Given the description of an element on the screen output the (x, y) to click on. 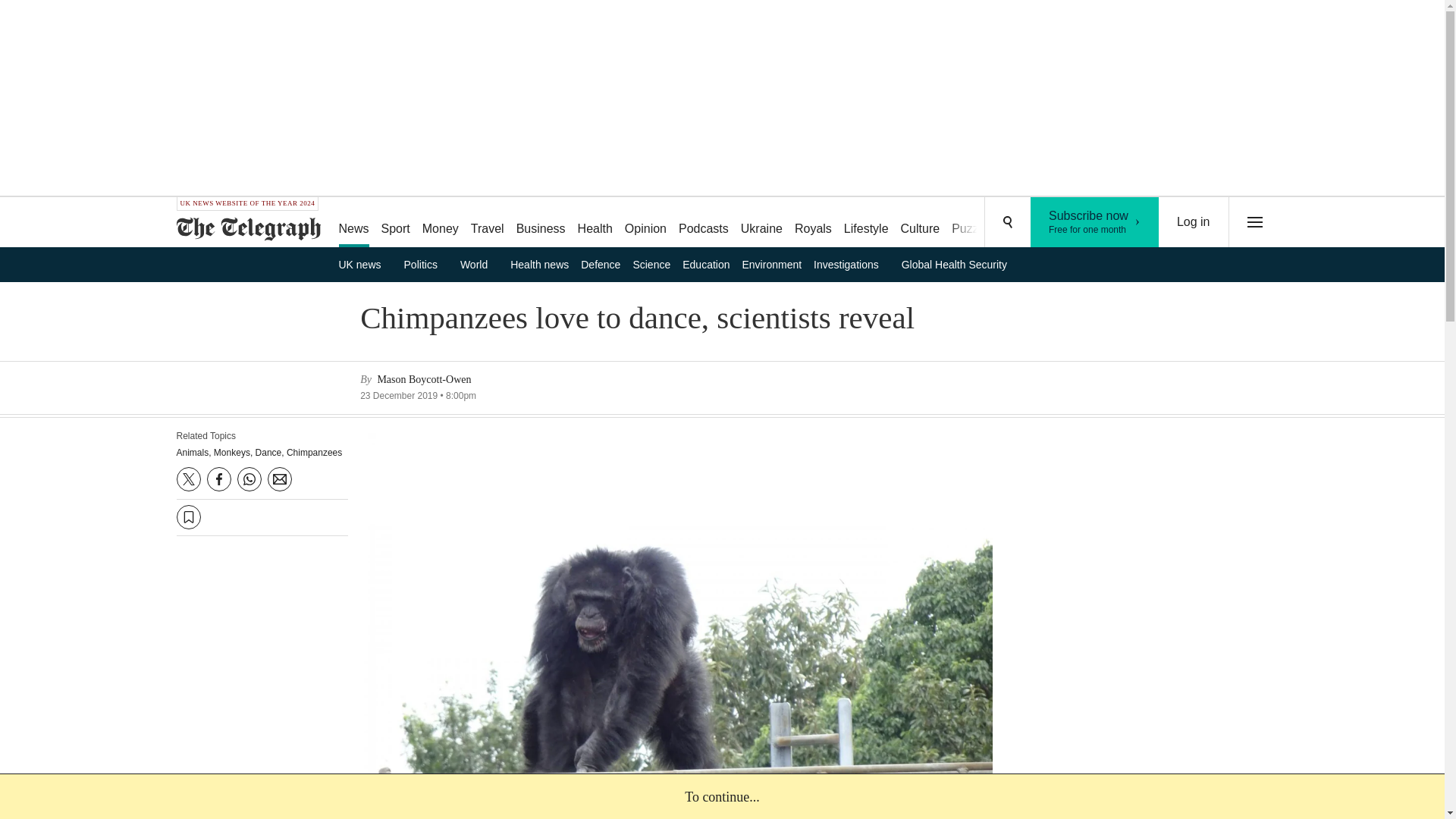
Culture (920, 223)
Politics (425, 264)
Travel (487, 223)
World (478, 264)
Lifestyle (866, 223)
Podcasts (703, 223)
Log in (1094, 222)
UK news (1193, 222)
Opinion (364, 264)
Ukraine (645, 223)
Money (762, 223)
Business (440, 223)
Puzzles (541, 223)
Health (972, 223)
